Given the description of an element on the screen output the (x, y) to click on. 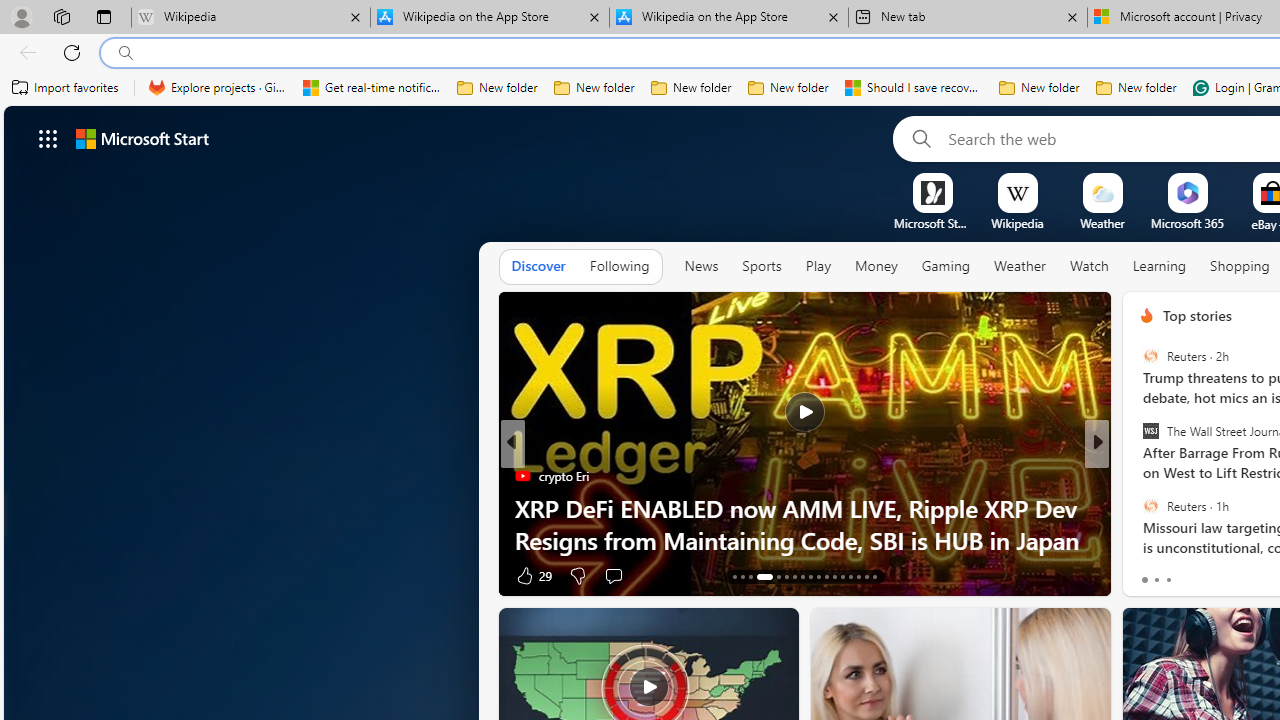
Weather (1019, 267)
Weather (1020, 265)
63 Like (1149, 574)
The Wall Street Journal (1149, 431)
Simply More Time (1138, 475)
View comments 5 Comment (1229, 575)
tab-1 (1156, 579)
Learning (1159, 267)
Lifehacker (1138, 475)
90 Like (1149, 574)
12 Like (1149, 574)
Microsoft start (142, 138)
AutomationID: tab-17 (772, 576)
